Given the description of an element on the screen output the (x, y) to click on. 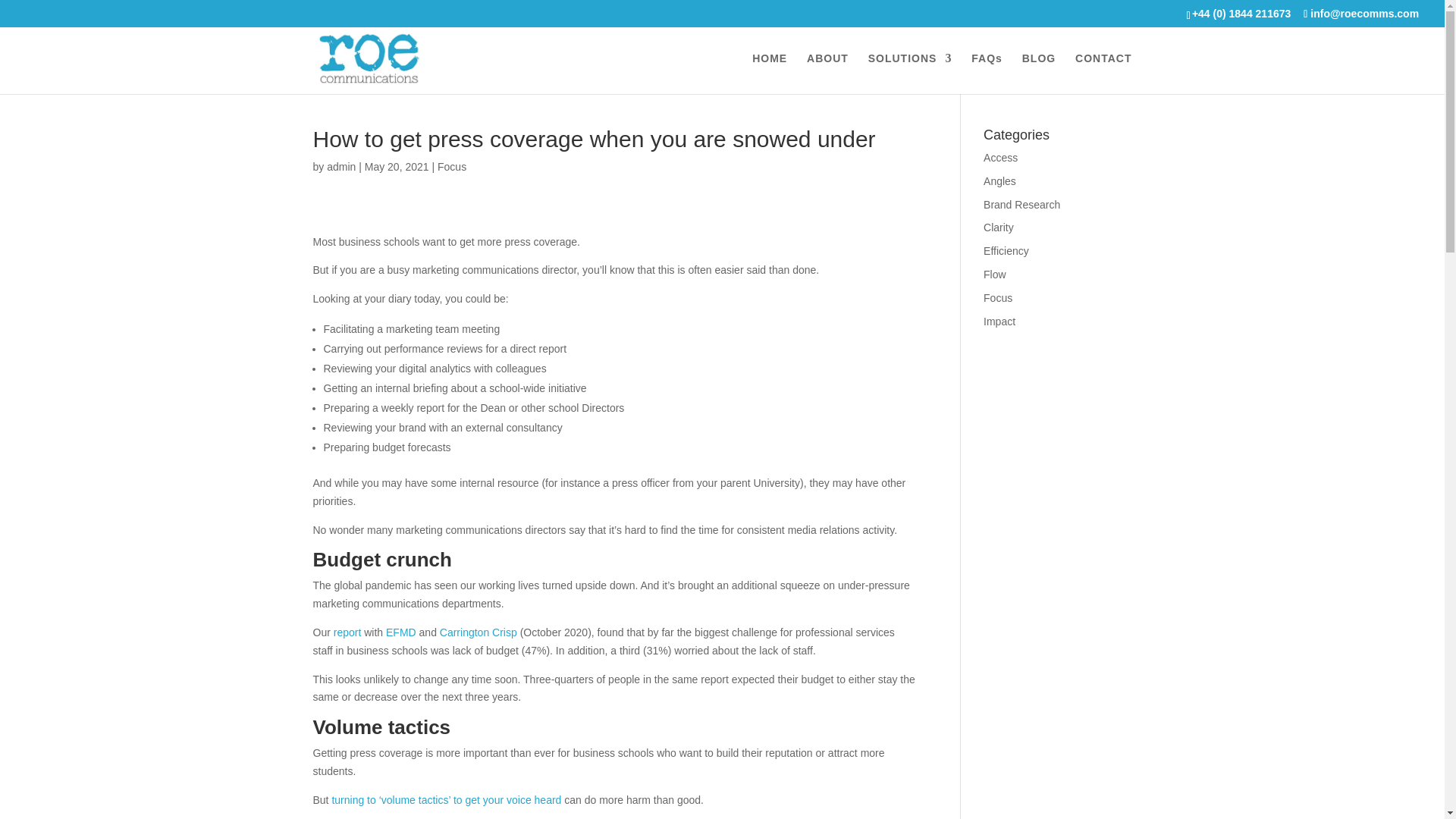
Access (1000, 157)
Focus (451, 166)
ABOUT (827, 73)
Clarity (998, 227)
Posts by admin (340, 166)
admin (340, 166)
Carrington Crisp (477, 632)
CONTACT (1103, 73)
Brand Research (1021, 204)
EFMD (400, 632)
SOLUTIONS (909, 73)
report (347, 632)
Angles (1000, 181)
